Given the description of an element on the screen output the (x, y) to click on. 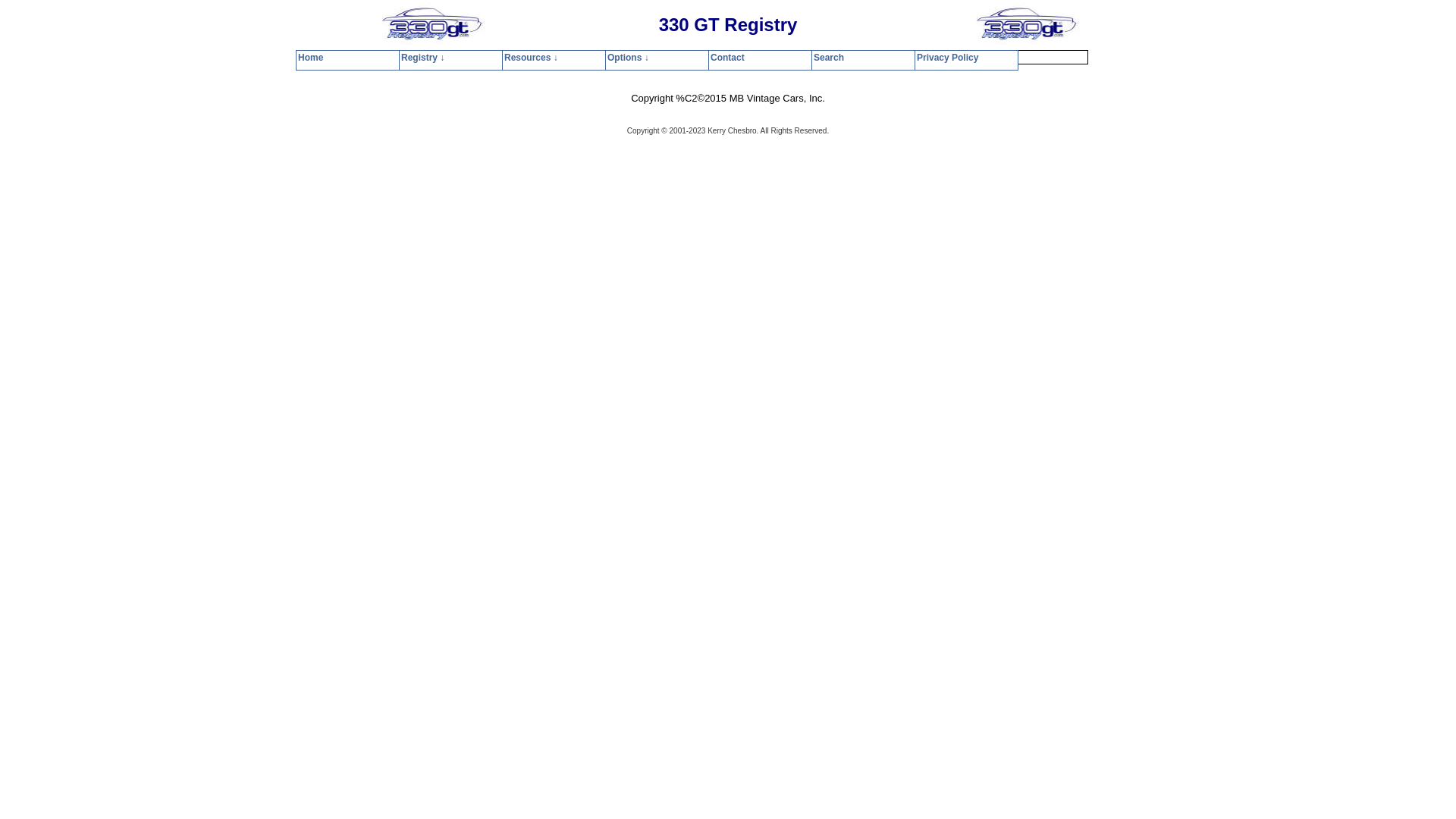
Options Element type: text (719, 56)
Registry Element type: text (615, 56)
Home Element type: text (572, 56)
Resources Element type: text (667, 56)
Privacy Policy Element type: text (865, 56)
Contact Element type: text (764, 56)
Search Element type: text (807, 56)
